Given the description of an element on the screen output the (x, y) to click on. 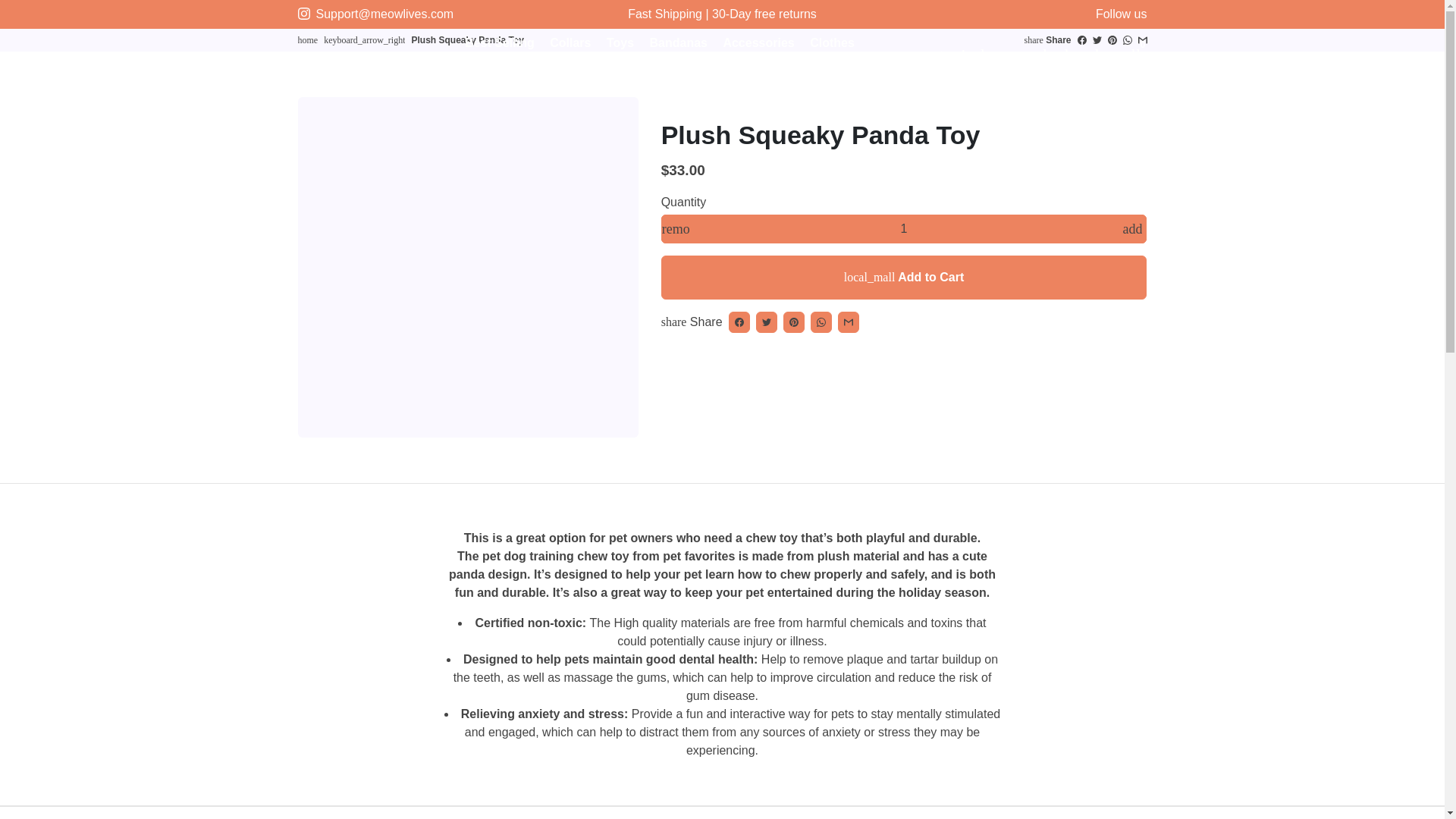
1 (904, 228)
Rabbit Collection (606, 66)
Toys (619, 42)
Cart (1102, 54)
Increase item quantity by one (1132, 228)
Clothes (831, 42)
Log In (939, 54)
Dogs Collection (717, 66)
Reduce item quantity by one (675, 228)
